Given the description of an element on the screen output the (x, y) to click on. 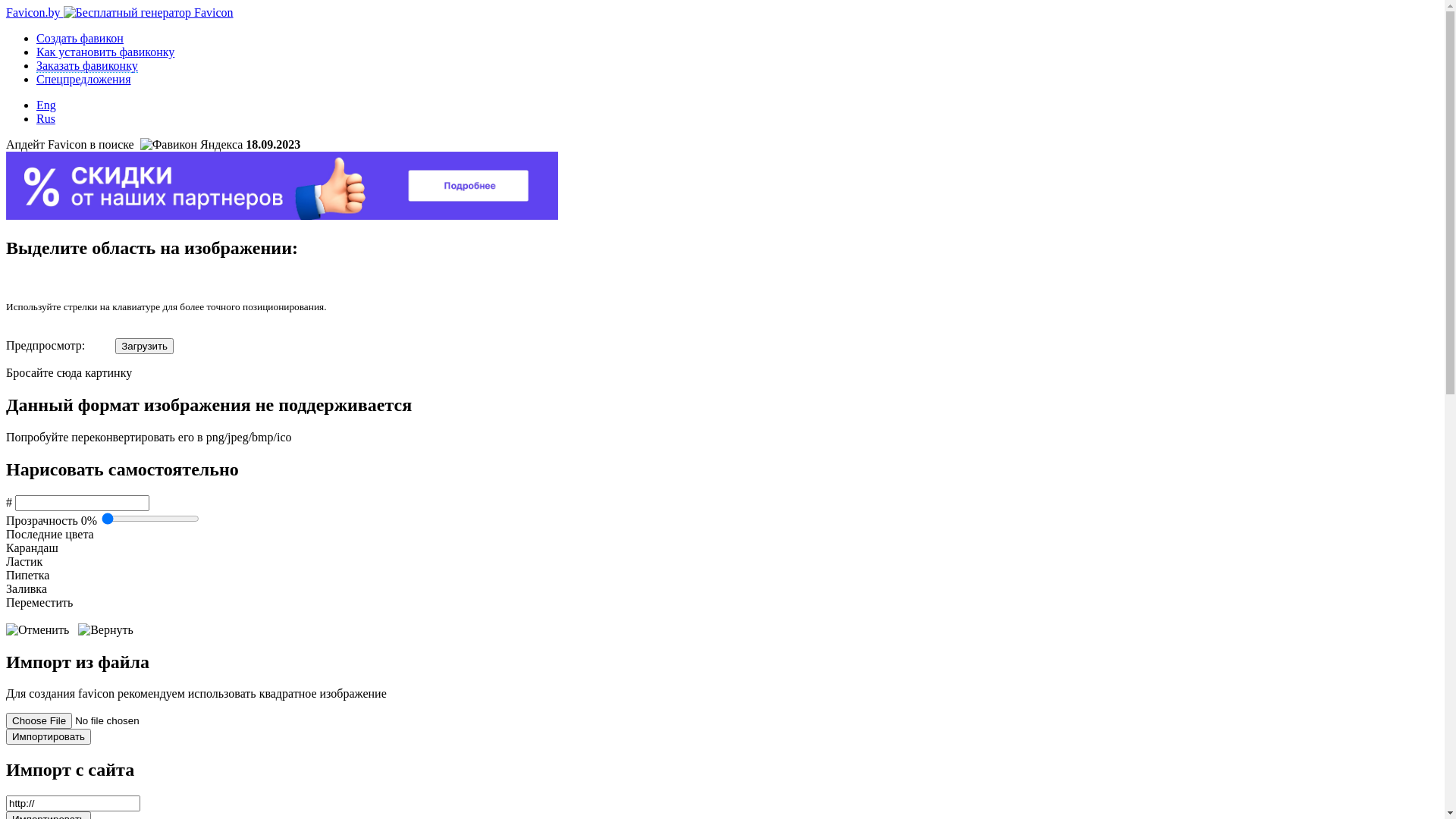
Favicon.by Element type: text (119, 12)
Rus Element type: text (45, 118)
Eng Element type: text (46, 104)
